Given the description of an element on the screen output the (x, y) to click on. 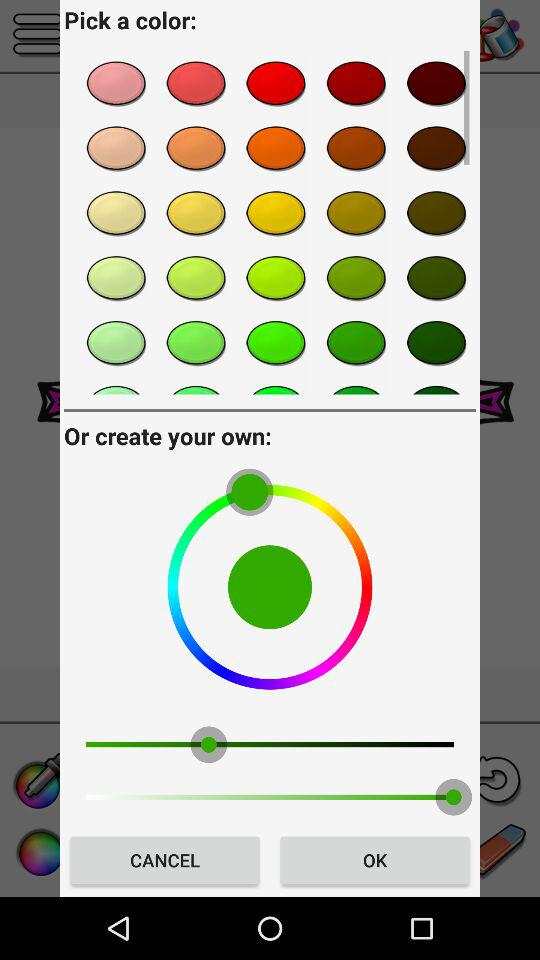
swipe to ok item (374, 859)
